Given the description of an element on the screen output the (x, y) to click on. 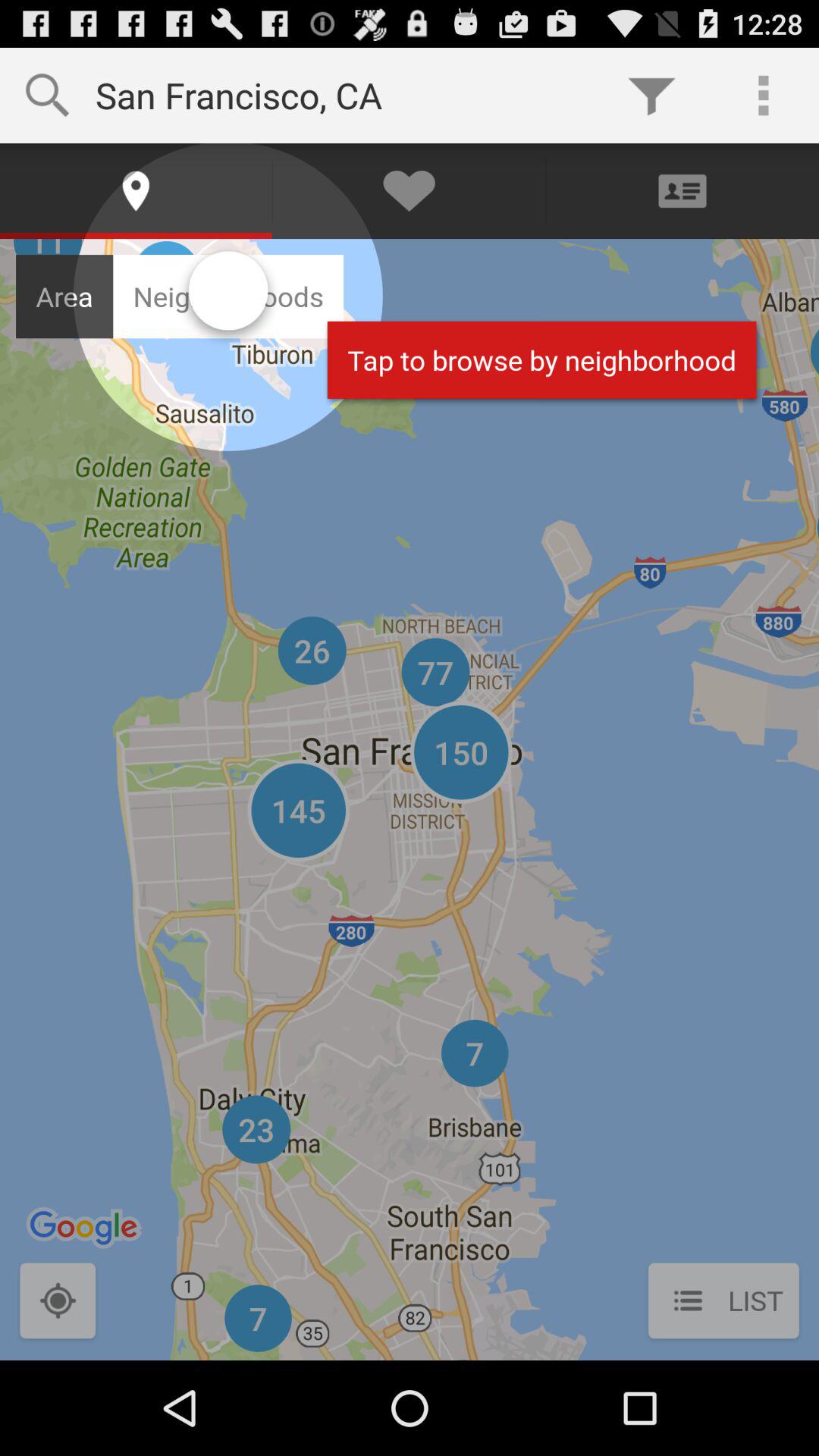
detecte my current location (57, 1302)
